Given the description of an element on the screen output the (x, y) to click on. 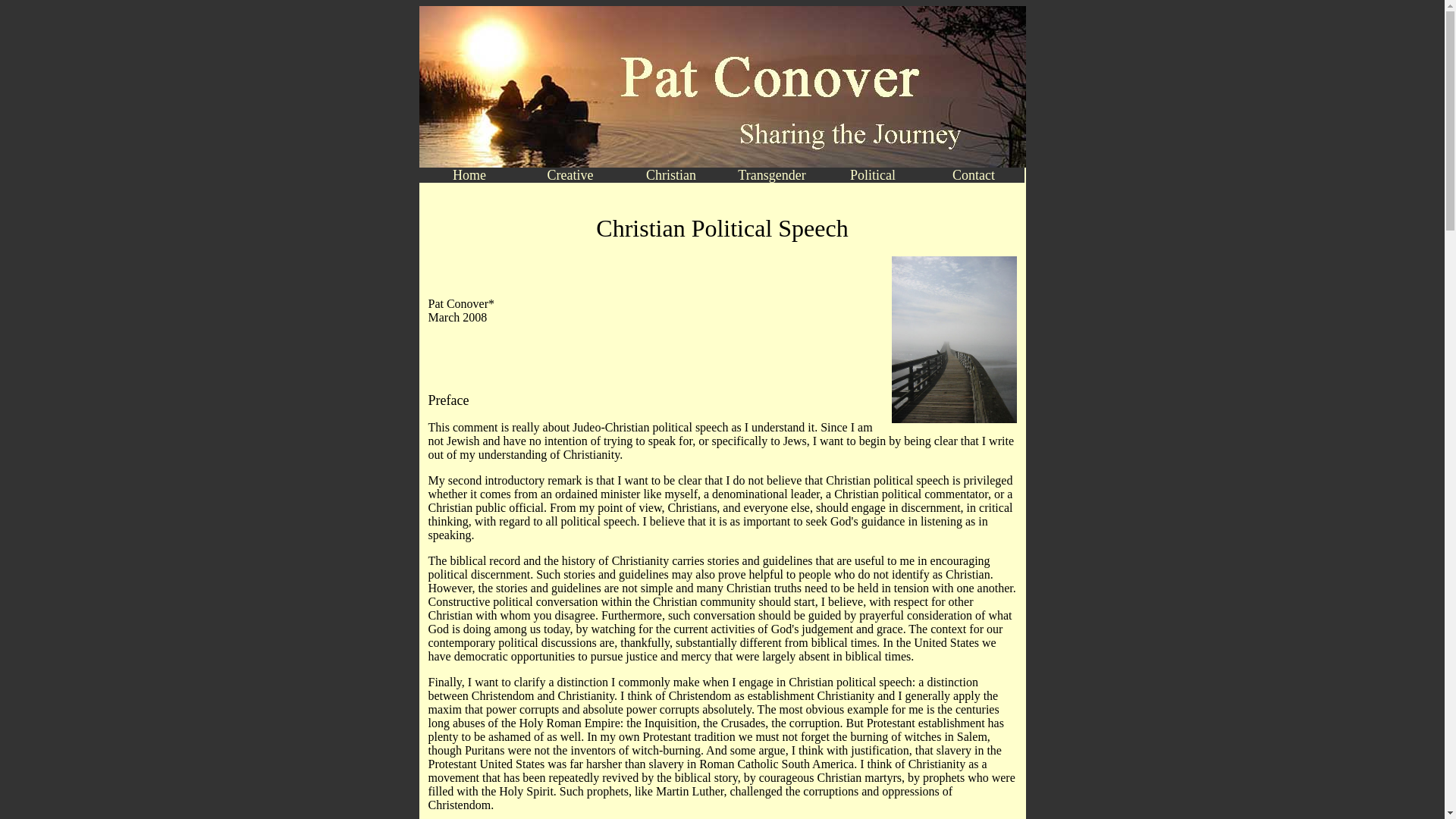
Political (872, 174)
Contact (974, 174)
Creative (570, 174)
Christian (670, 174)
Home (469, 174)
Home (722, 11)
Transgender (772, 174)
Let Forever Be by underbunny (953, 339)
